Given the description of an element on the screen output the (x, y) to click on. 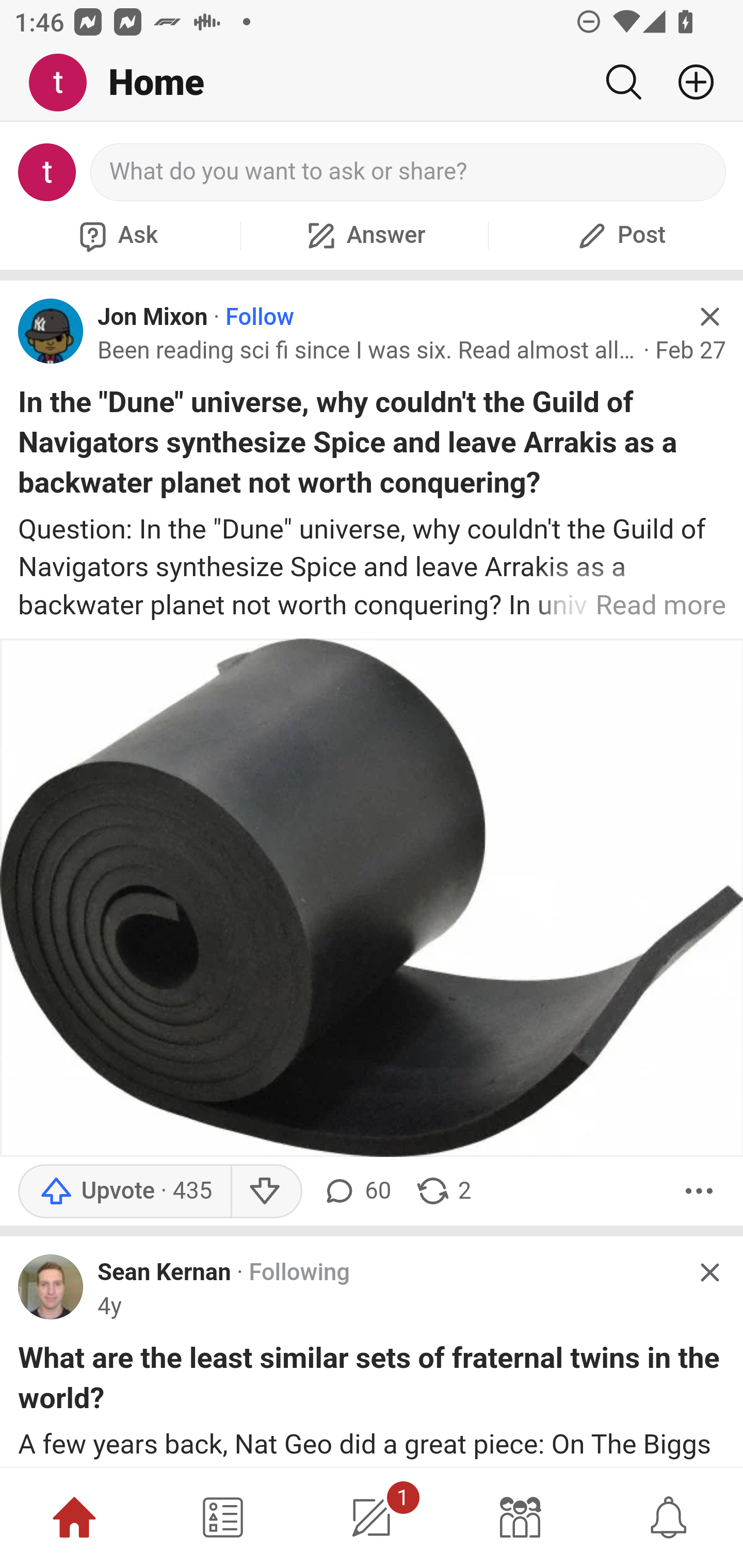
Me Home Search Add (371, 82)
Me (64, 83)
Search (623, 82)
Add (688, 82)
What do you want to ask or share? (408, 172)
Ask (116, 234)
Answer (364, 234)
Post (618, 234)
Hide (709, 316)
Profile photo for Jon Mixon (50, 330)
Jon Mixon (153, 316)
Follow (259, 316)
Feb 27 (690, 350)
Upvote (124, 1191)
Downvote (266, 1191)
60 comments (356, 1191)
2 shares (443, 1191)
More (699, 1191)
Hide (709, 1272)
Profile photo for Sean Kernan (50, 1286)
Sean Kernan (164, 1273)
Following (299, 1273)
4y 4 y (109, 1306)
1 (371, 1517)
